Given the description of an element on the screen output the (x, y) to click on. 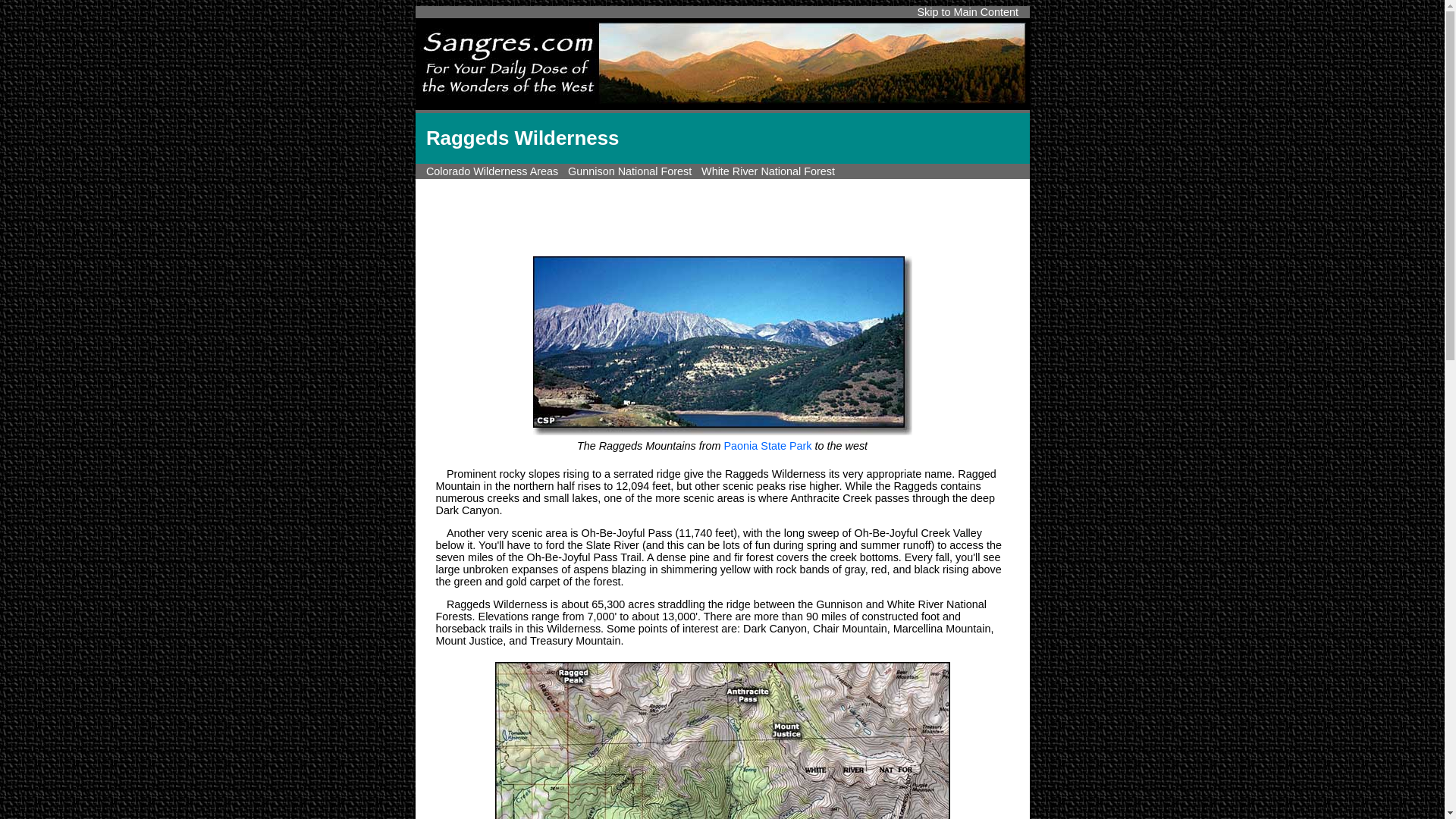
Raggeds Wilderness, Colorado (722, 345)
Raggeds Wilderness map (722, 739)
Colorado Wilderness Areas (491, 171)
National Wilderness Areas in Colorado (491, 171)
Paonia State Park (766, 445)
White River National Forest (767, 171)
Paonia State Park (766, 445)
Advertisement (721, 214)
White River National Forest (767, 171)
Gunnison National Forest (629, 171)
